Given the description of an element on the screen output the (x, y) to click on. 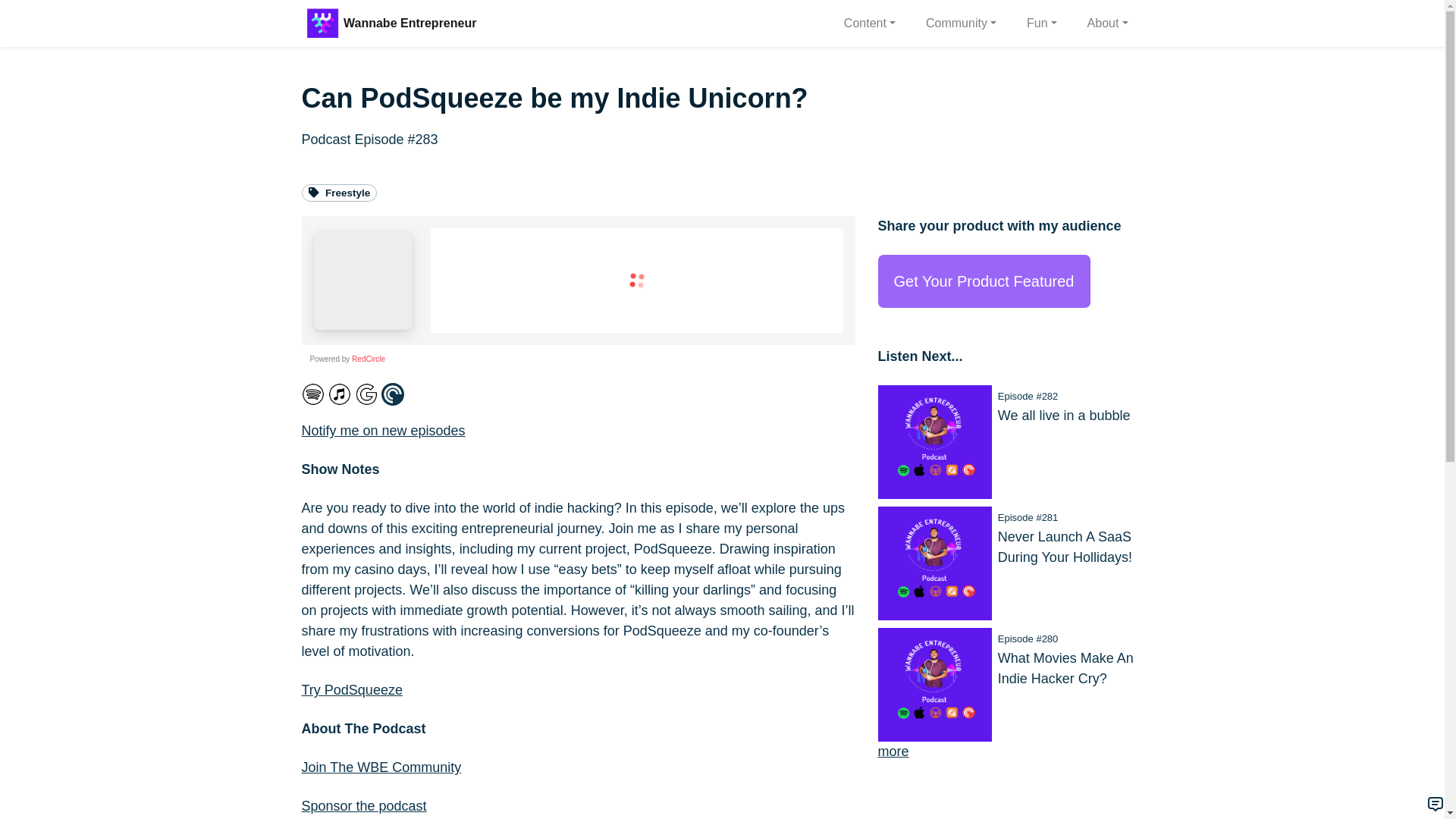
Get Your Product Featured (983, 280)
Join The WBE Community (381, 767)
Wannabe Entrepreneur (409, 23)
About (1106, 23)
Freestyle (339, 192)
RedCircle (368, 358)
Fun (1041, 23)
Notify me on new episodes (383, 430)
Community (961, 23)
Try PodSqueeze (352, 689)
more (892, 751)
Sponsor the podcast (363, 806)
Content (869, 23)
